Given the description of an element on the screen output the (x, y) to click on. 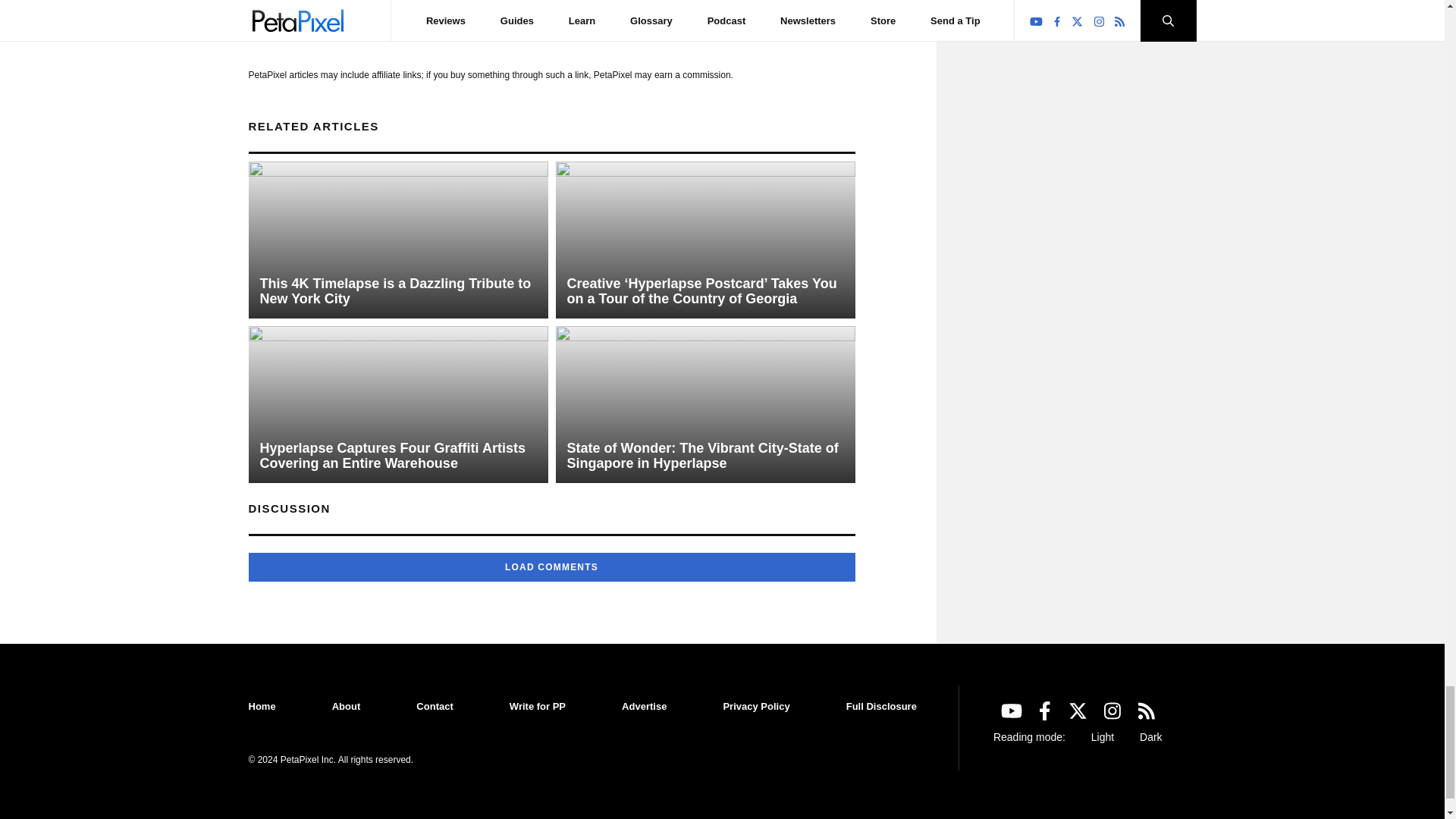
Share on X (283, 20)
Email this article (333, 20)
Share on Flipboard (309, 20)
Share on facebook (258, 20)
